Given the description of an element on the screen output the (x, y) to click on. 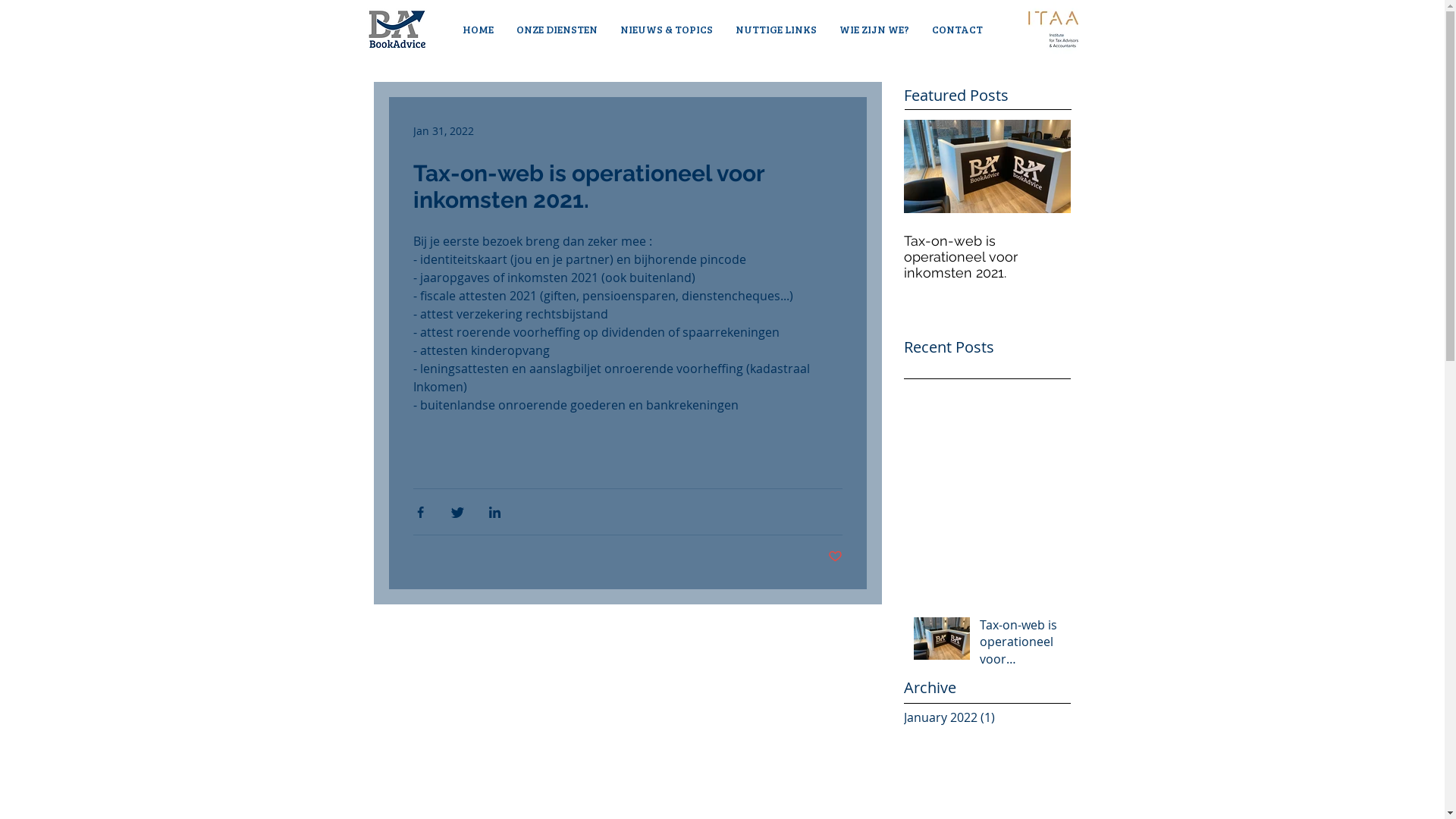
NIEUWS & TOPICS Element type: text (665, 29)
Tax-on-web is operationeel voor inkomsten 2021. Element type: text (1020, 644)
NUTTIGE LINKS Element type: text (775, 29)
Post not marked as liked Element type: text (835, 556)
WIE ZIJN WE? Element type: text (874, 29)
CONTACT Element type: text (957, 29)
January 2022 (1) Element type: text (983, 717)
Tax-on-web is operationeel voor inkomsten 2021. Element type: text (986, 256)
BookAdvice - Boekhoudkantoor in Lanaken Element type: hover (396, 29)
HOME Element type: text (477, 29)
ONZE DIENSTEN Element type: text (556, 29)
